Given the description of an element on the screen output the (x, y) to click on. 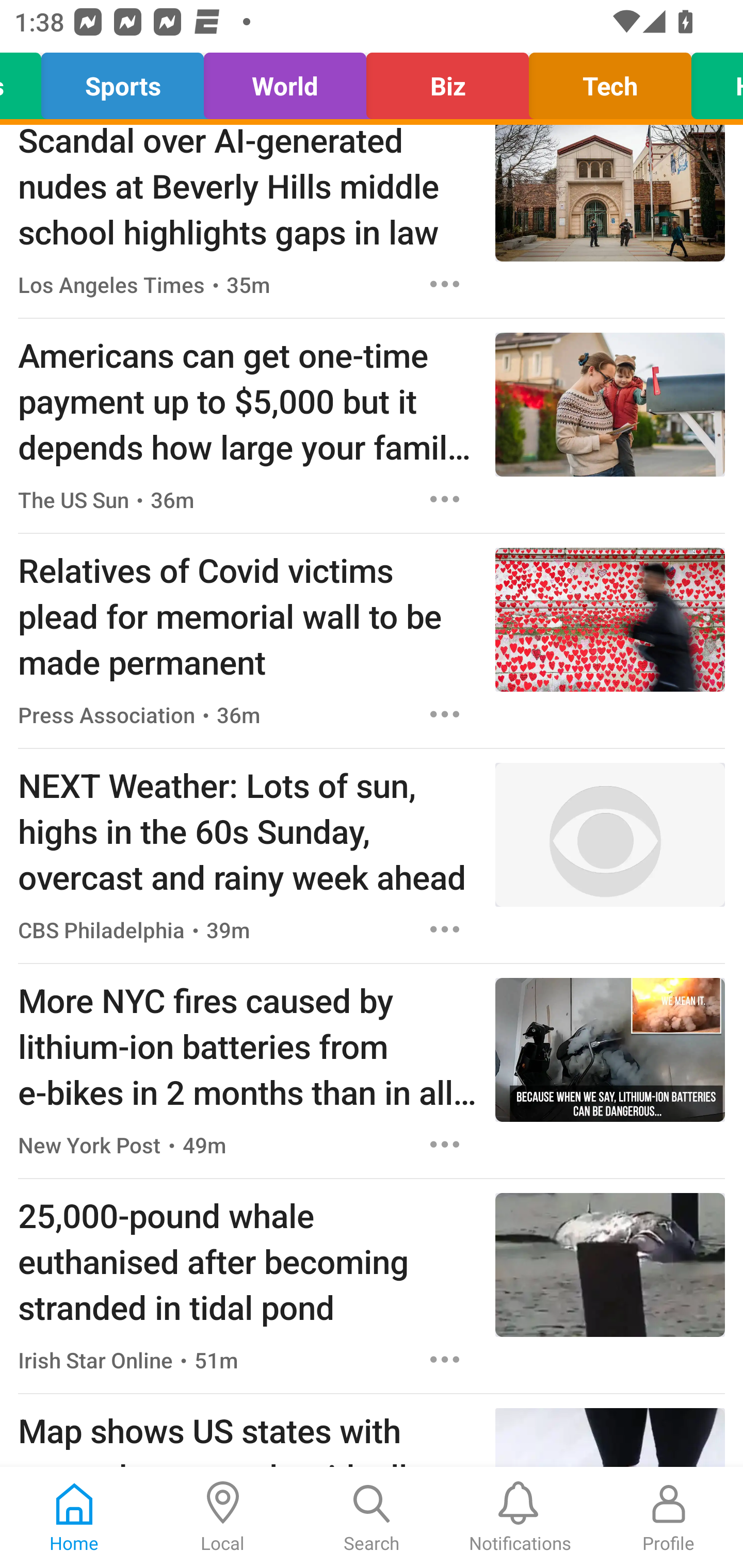
Sports (122, 81)
World (285, 81)
Biz (447, 81)
Tech (609, 81)
Options (444, 283)
Options (444, 499)
Options (444, 714)
Options (444, 929)
Options (444, 1144)
Options (444, 1359)
Local (222, 1517)
Search (371, 1517)
Notifications (519, 1517)
Profile (668, 1517)
